Given the description of an element on the screen output the (x, y) to click on. 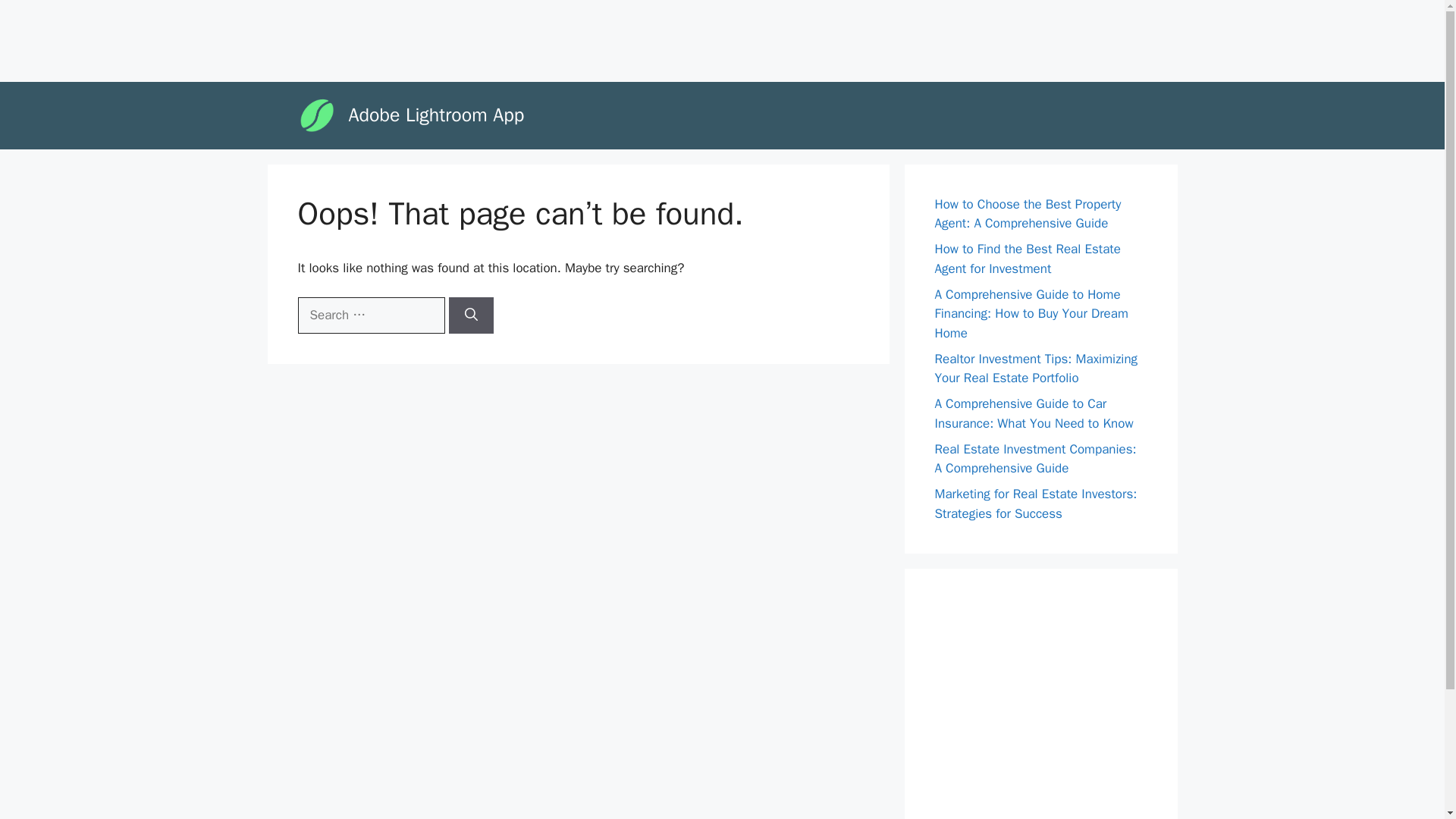
Advertisement (1047, 693)
How to Find the Best Real Estate Agent for Investment (1026, 258)
Search for: (370, 315)
How to Choose the Best Property Agent: A Comprehensive Guide (1027, 213)
Advertisement (284, 38)
Marketing for Real Estate Investors: Strategies for Success (1035, 503)
Real Estate Investment Companies: A Comprehensive Guide (1034, 458)
